Given the description of an element on the screen output the (x, y) to click on. 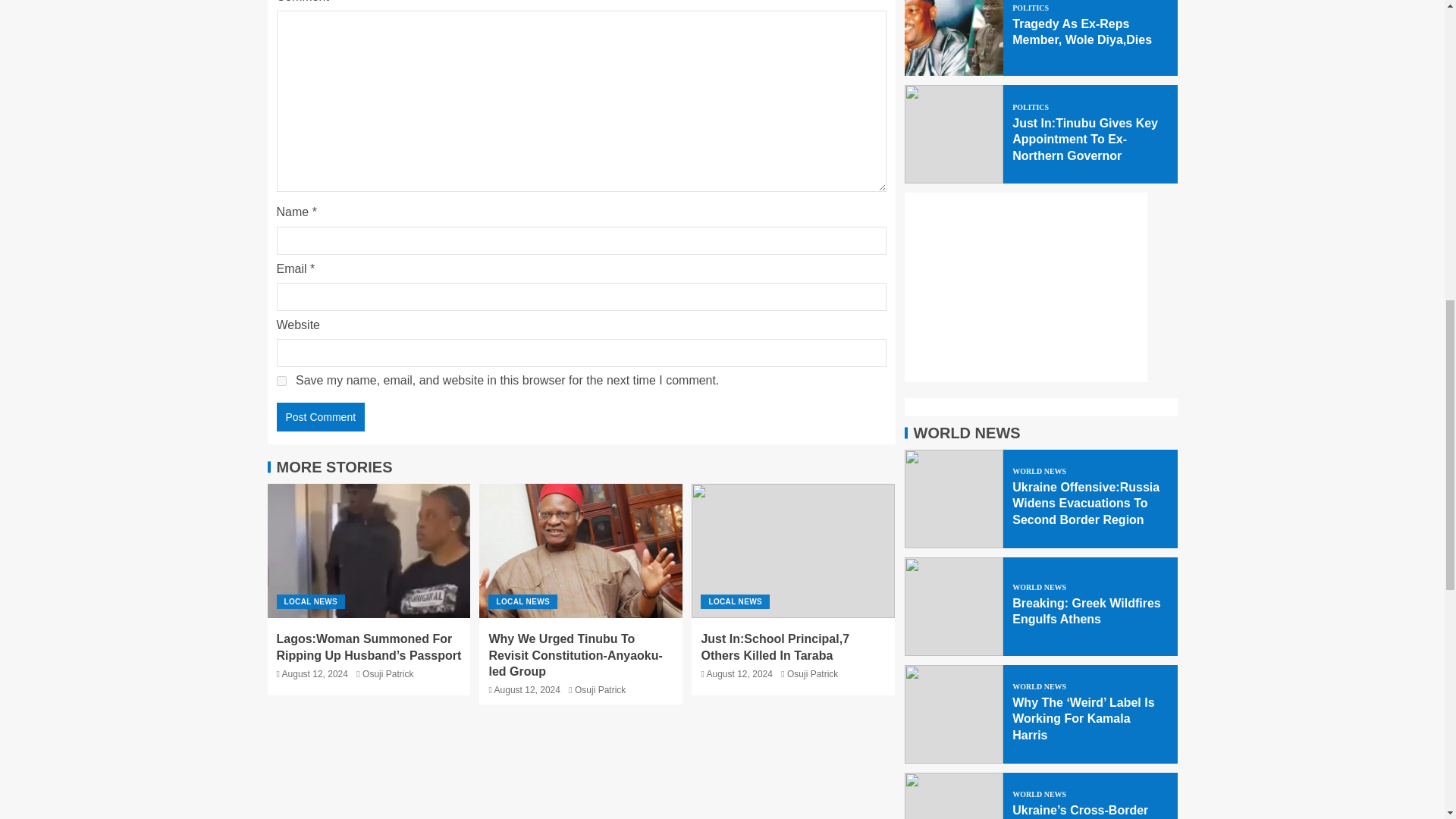
yes (280, 380)
Post Comment (320, 416)
Osuji Patrick (387, 674)
LOCAL NEWS (310, 601)
Post Comment (320, 416)
LOCAL NEWS (522, 601)
Osuji Patrick (600, 689)
